Given the description of an element on the screen output the (x, y) to click on. 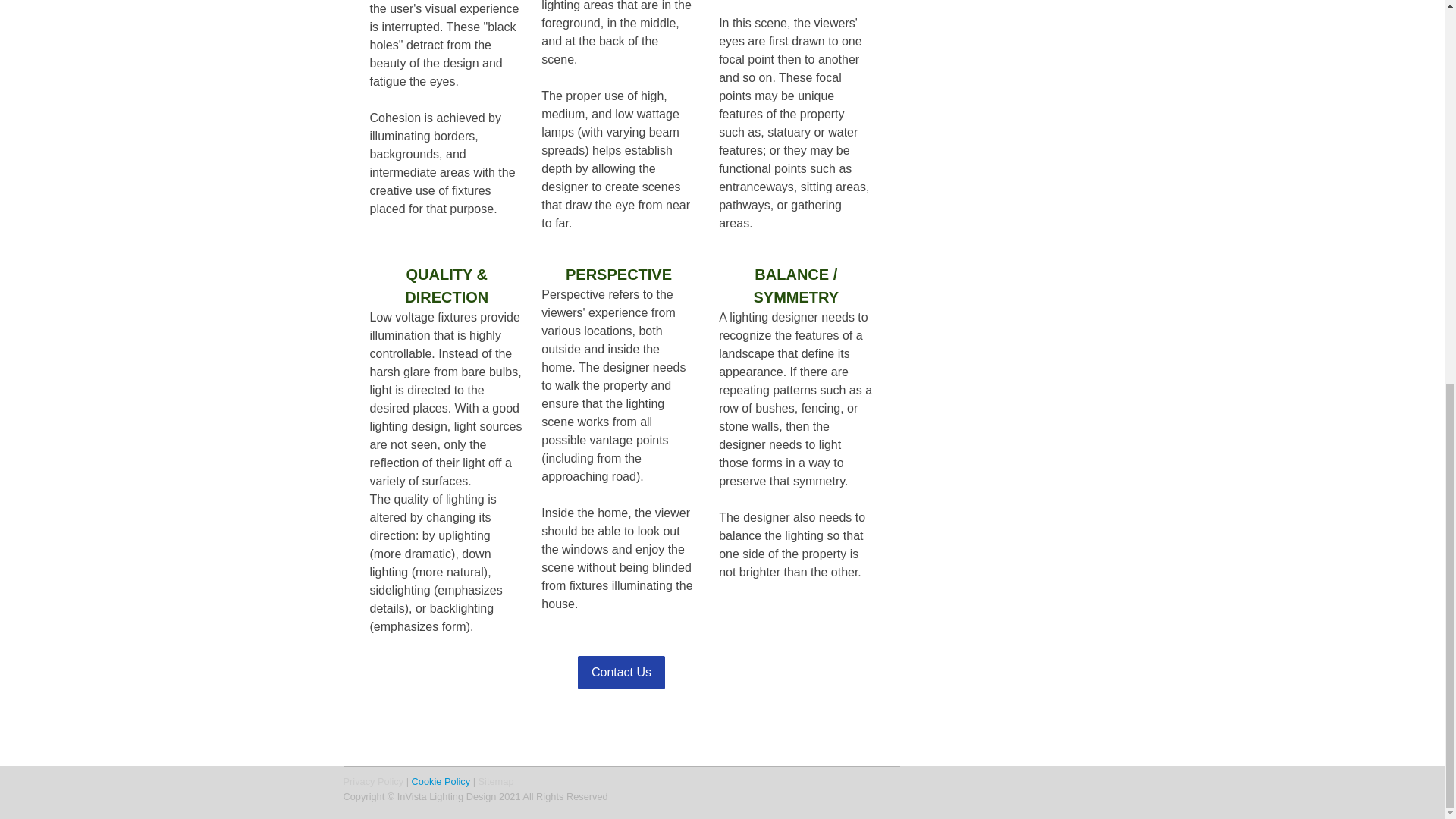
Cookie Policy (441, 781)
Sitemap (496, 781)
Privacy Policy (372, 781)
Contact Us (621, 672)
